Given the description of an element on the screen output the (x, y) to click on. 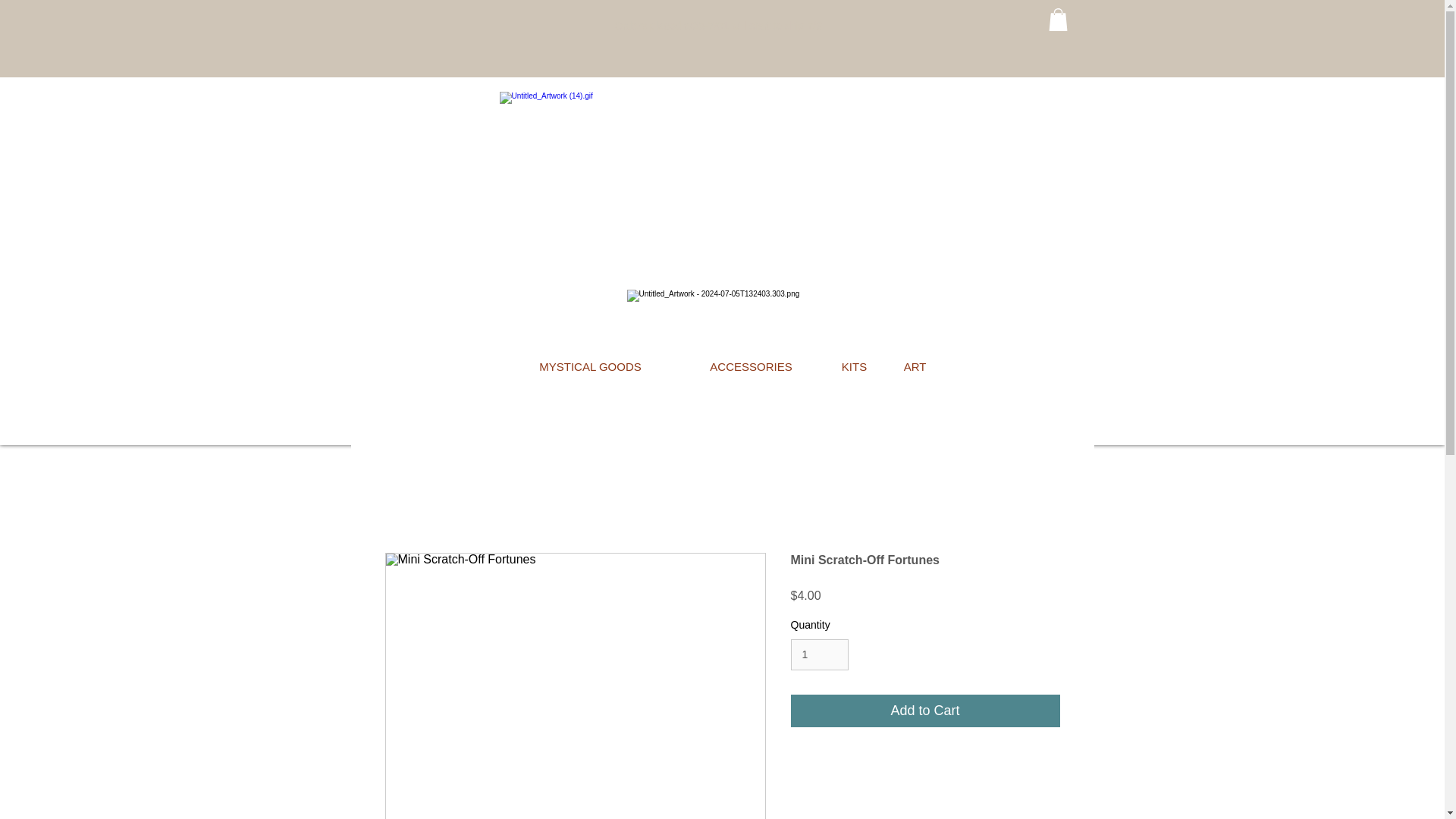
MYSTICAL GOODS (589, 366)
KITS (853, 366)
ACCESSORIES (750, 366)
1 (818, 654)
Add to Cart (924, 710)
ART (914, 366)
